Given the description of an element on the screen output the (x, y) to click on. 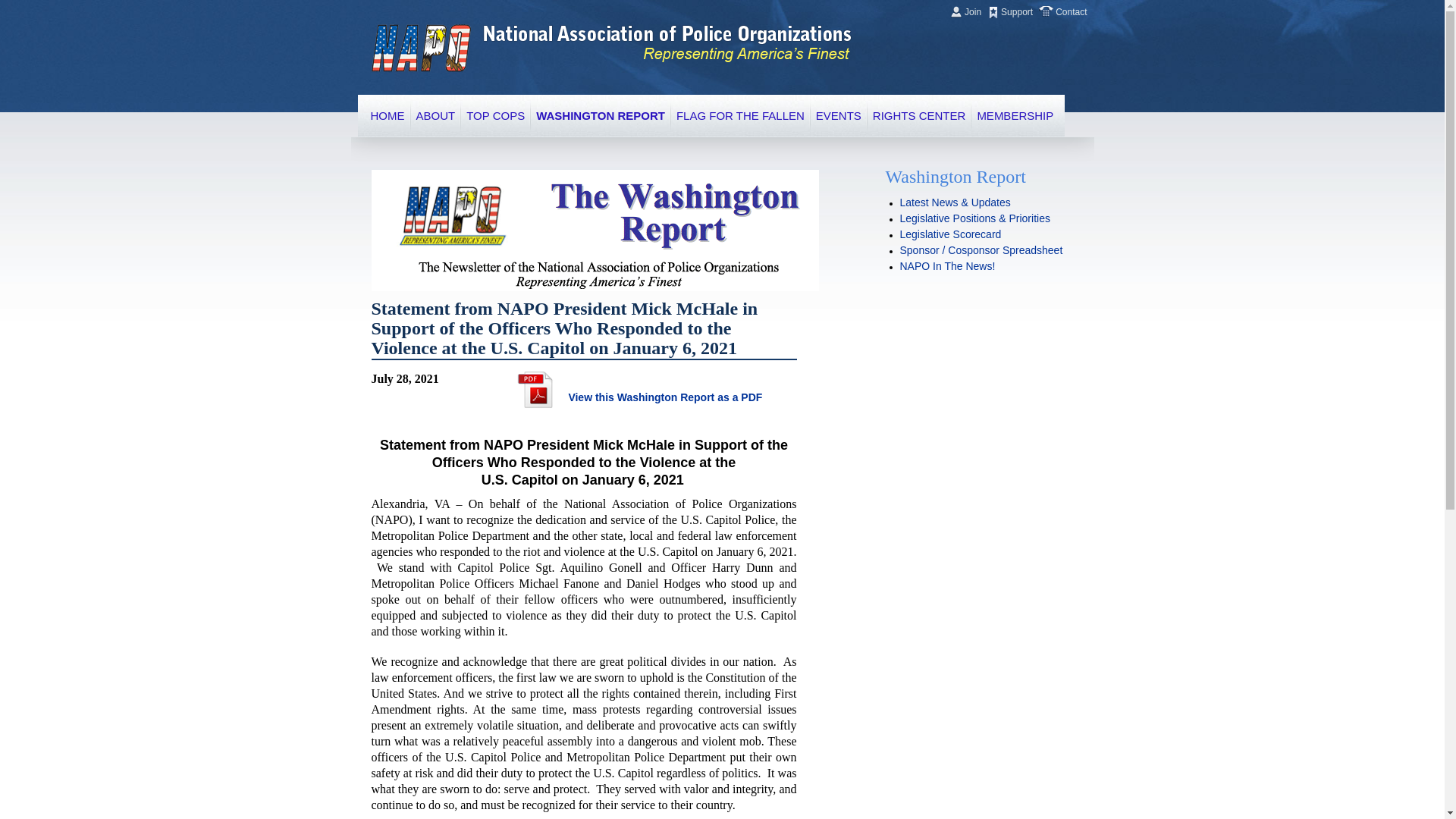
FLAG FOR THE FALLEN (741, 115)
ABOUT (434, 115)
TOP COPS (494, 115)
WASHINGTON REPORT (600, 115)
National Association of Police Organizations (420, 48)
Support (1016, 11)
EVENTS (838, 115)
HOME (386, 115)
NAPO (420, 48)
Contact (1069, 11)
